Given the description of an element on the screen output the (x, y) to click on. 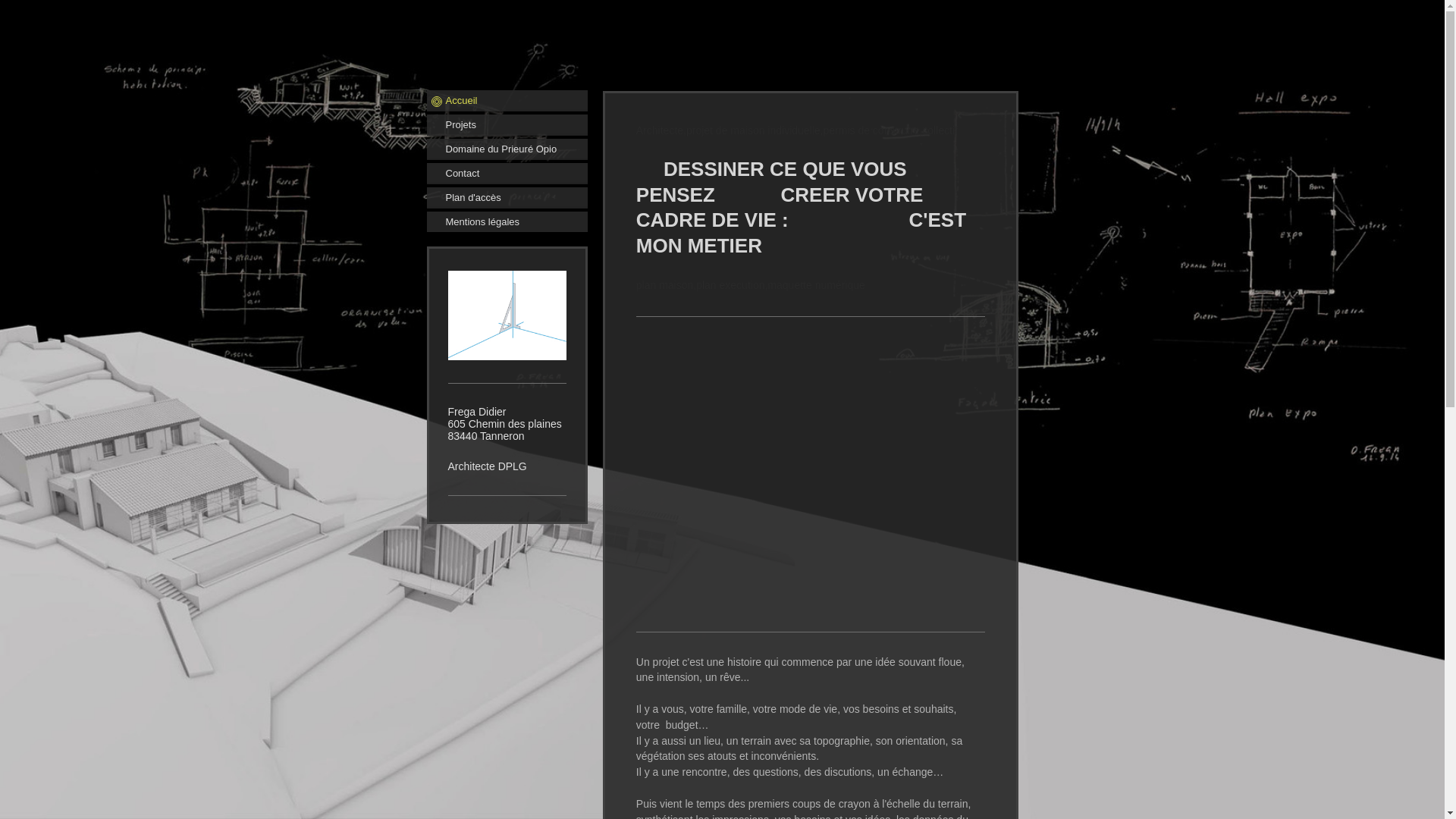
Accueil Element type: text (506, 100)
Contact Element type: text (506, 173)
Projets Element type: text (506, 124)
